Given the description of an element on the screen output the (x, y) to click on. 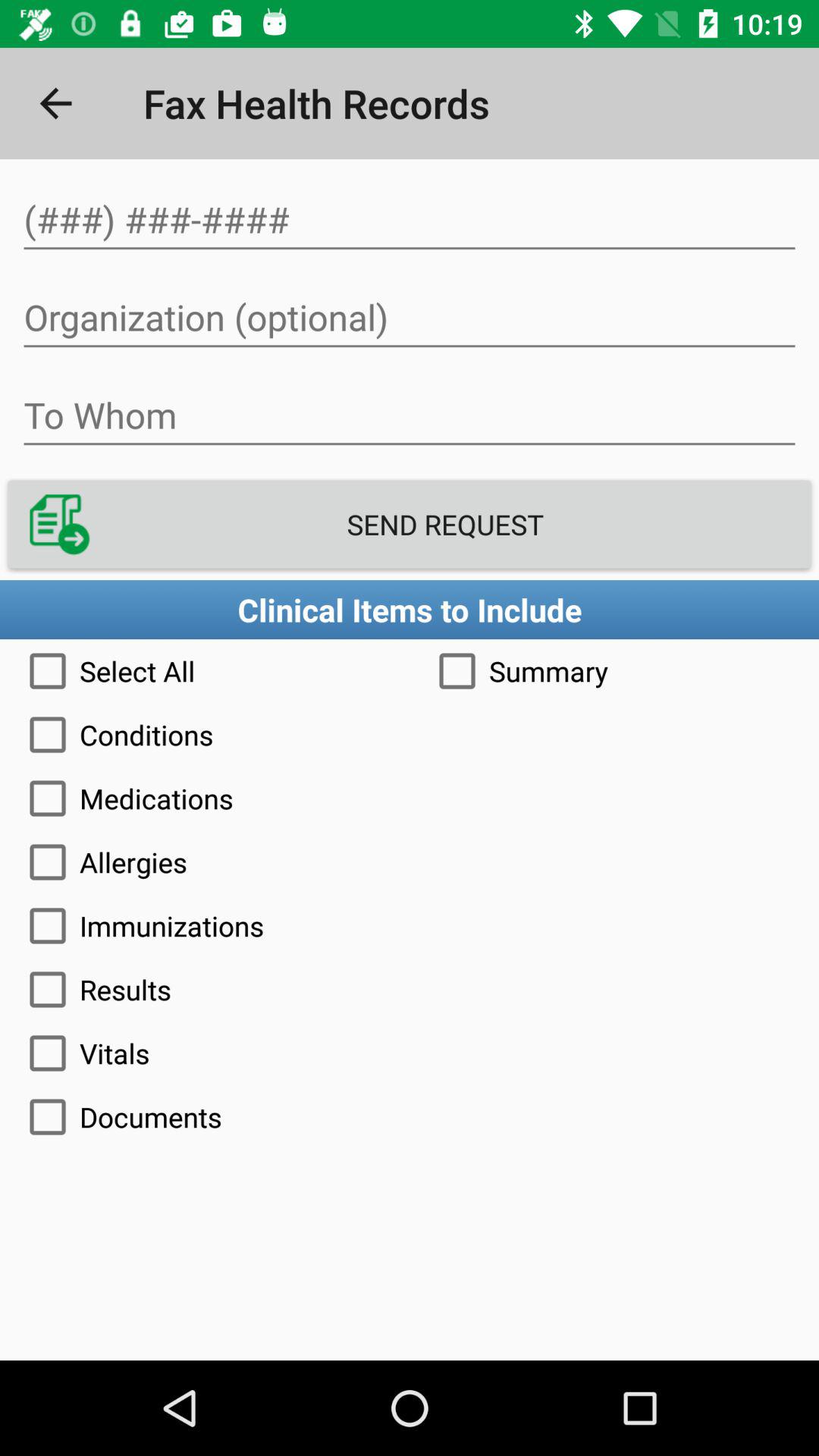
launch the icon above the immunizations (409, 862)
